Given the description of an element on the screen output the (x, y) to click on. 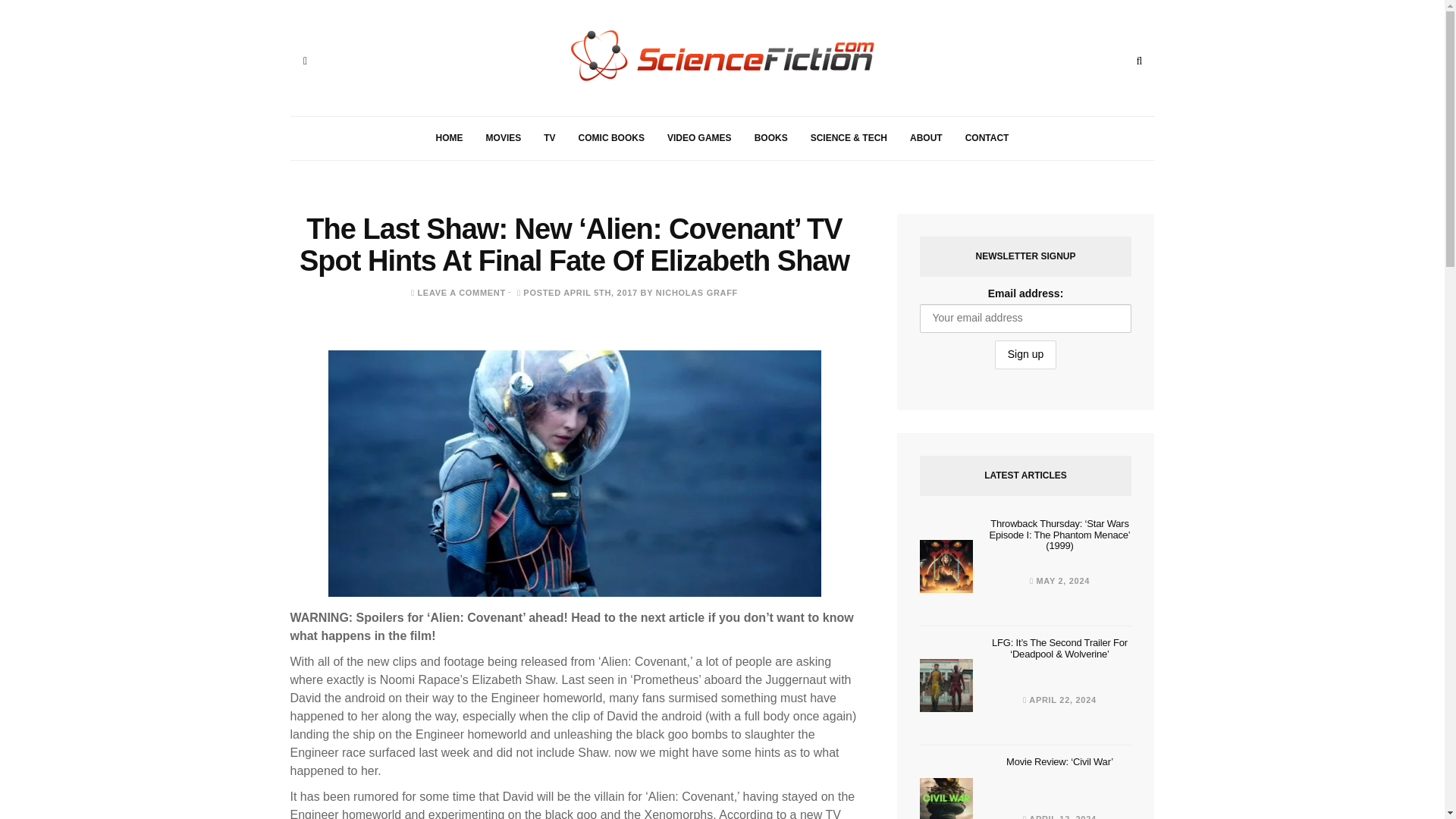
LEAVE A COMMENT (460, 292)
CONTACT (986, 138)
Search (1139, 60)
HOME (449, 138)
NICHOLAS GRAFF (697, 292)
Sign up (1025, 354)
COMIC BOOKS (611, 138)
VIDEO GAMES (699, 138)
Posts by Nicholas Graff (697, 292)
BOOKS (770, 138)
ABOUT (925, 138)
MOVIES (503, 138)
